Given the description of an element on the screen output the (x, y) to click on. 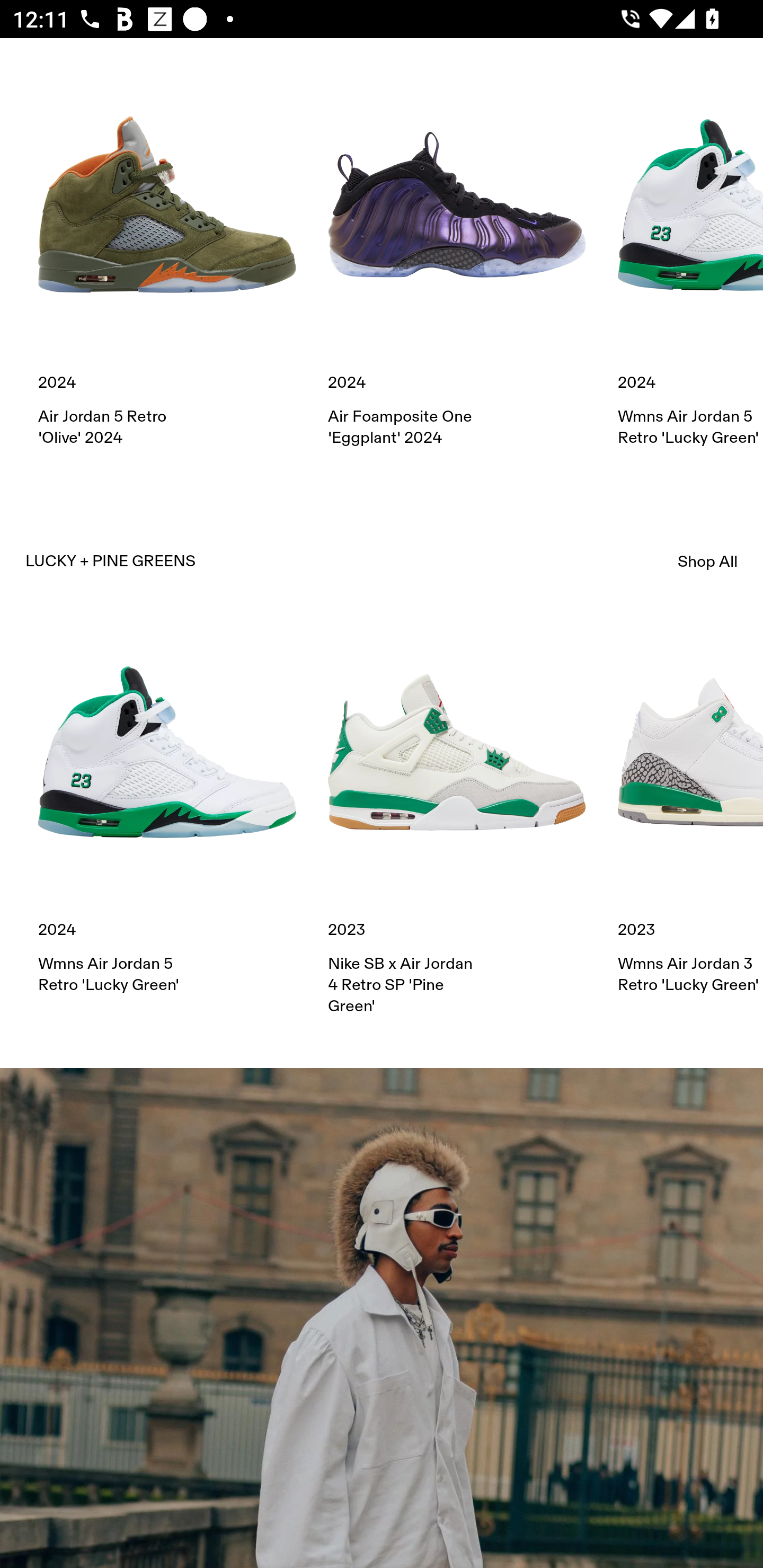
2024 Air Jordan 5 Retro 'Olive' 2024 (167, 261)
2024 Air Foamposite One 'Eggplant' 2024 (456, 261)
2024 Wmns Air Jordan 5 Retro 'Lucky Green' (690, 261)
Shop All (707, 561)
2024 Wmns Air Jordan 5 Retro 'Lucky Green' (167, 808)
2023 Nike SB x Air Jordan 4 Retro SP 'Pine Green' (456, 819)
2023 Wmns Air Jordan 3 Retro 'Lucky Green' (690, 808)
